Given the description of an element on the screen output the (x, y) to click on. 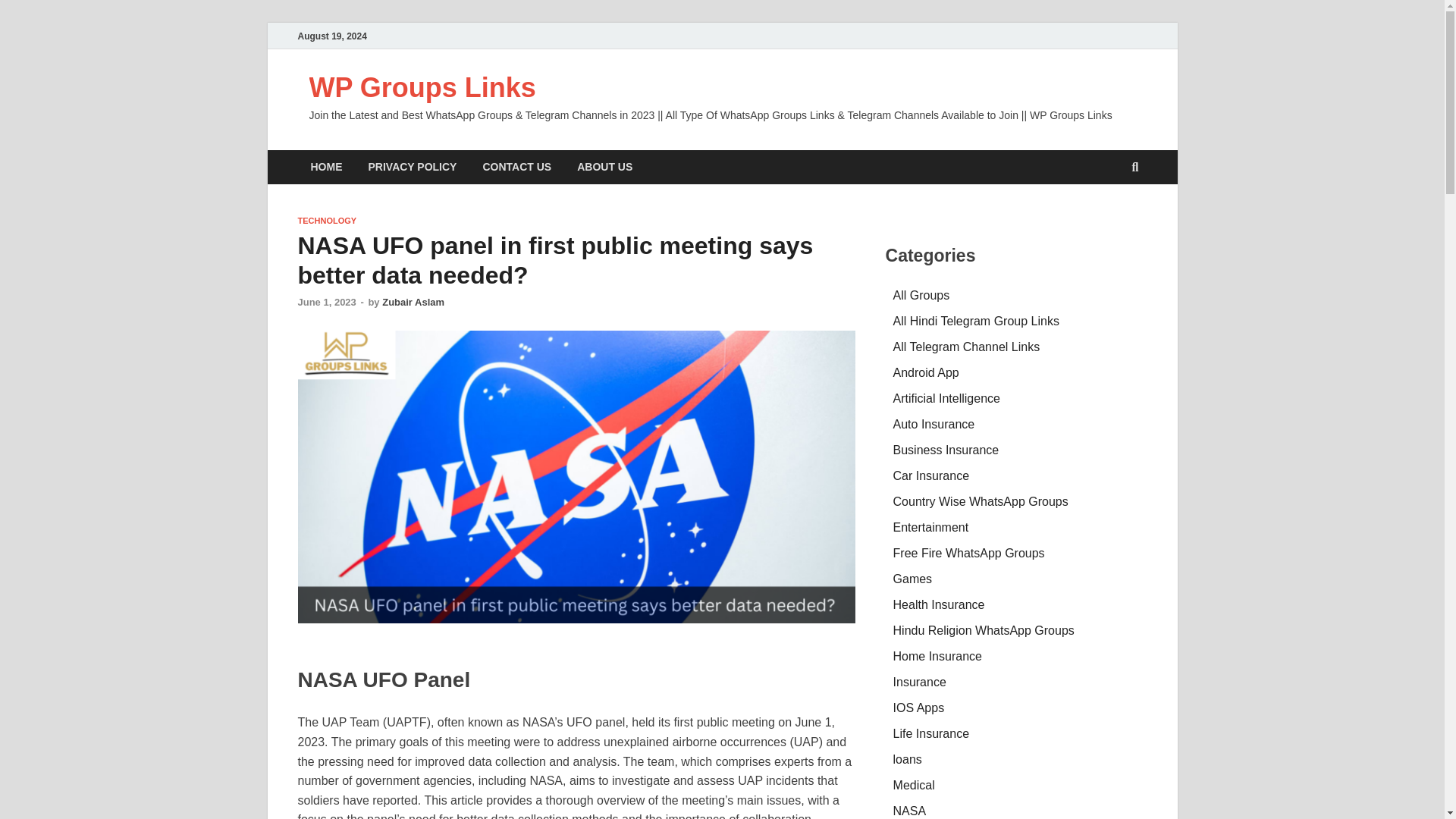
HOME (326, 166)
PRIVACY POLICY (411, 166)
Zubair Aslam (412, 301)
ABOUT US (604, 166)
TECHNOLOGY (326, 220)
WP Groups Links (421, 87)
CONTACT US (516, 166)
June 1, 2023 (326, 301)
